Given the description of an element on the screen output the (x, y) to click on. 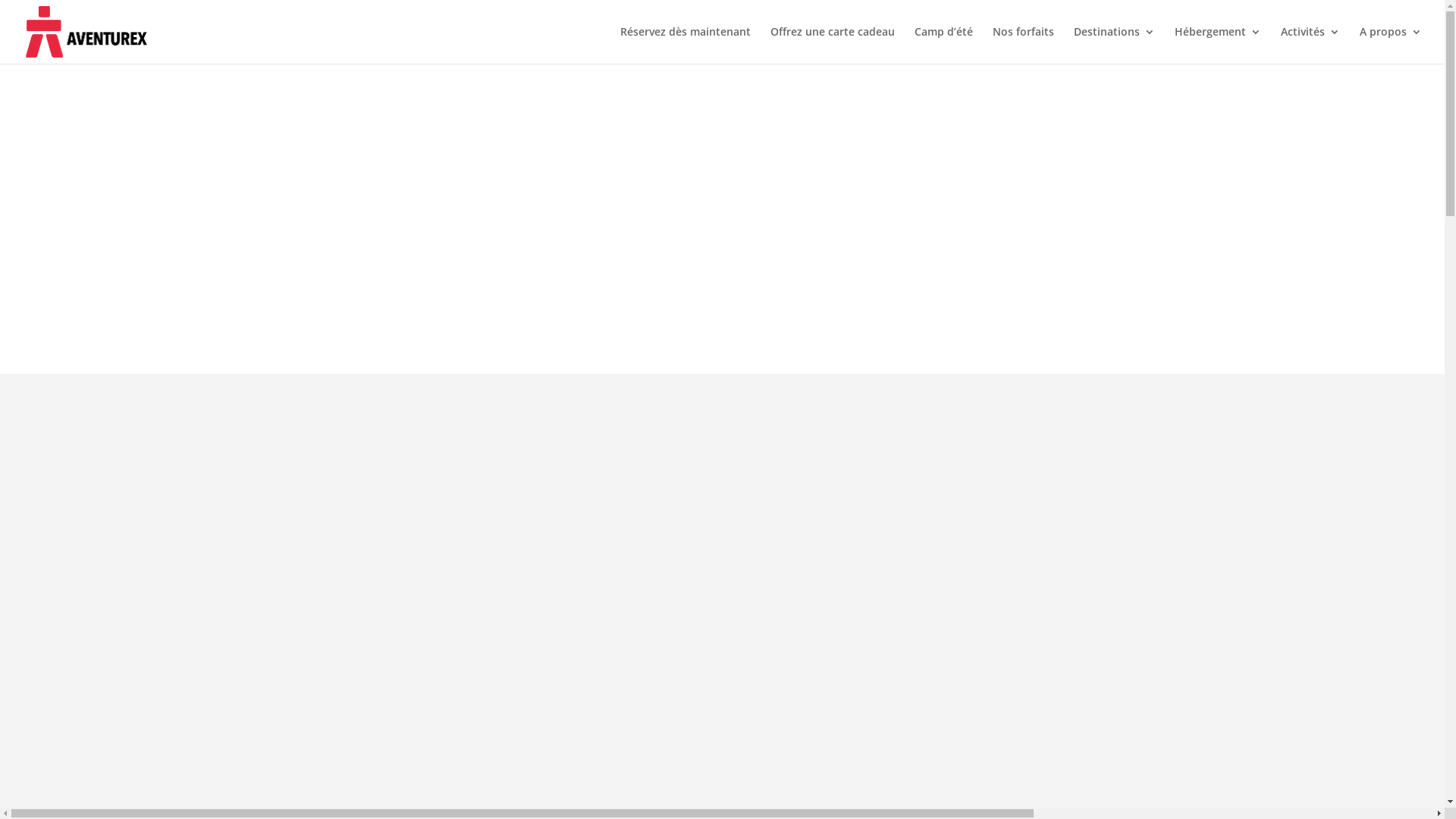
A propos Element type: text (1390, 44)
Offrez une carte cadeau Element type: text (832, 44)
Nos forfaits Element type: text (1023, 44)
Destinations Element type: text (1113, 44)
